Given the description of an element on the screen output the (x, y) to click on. 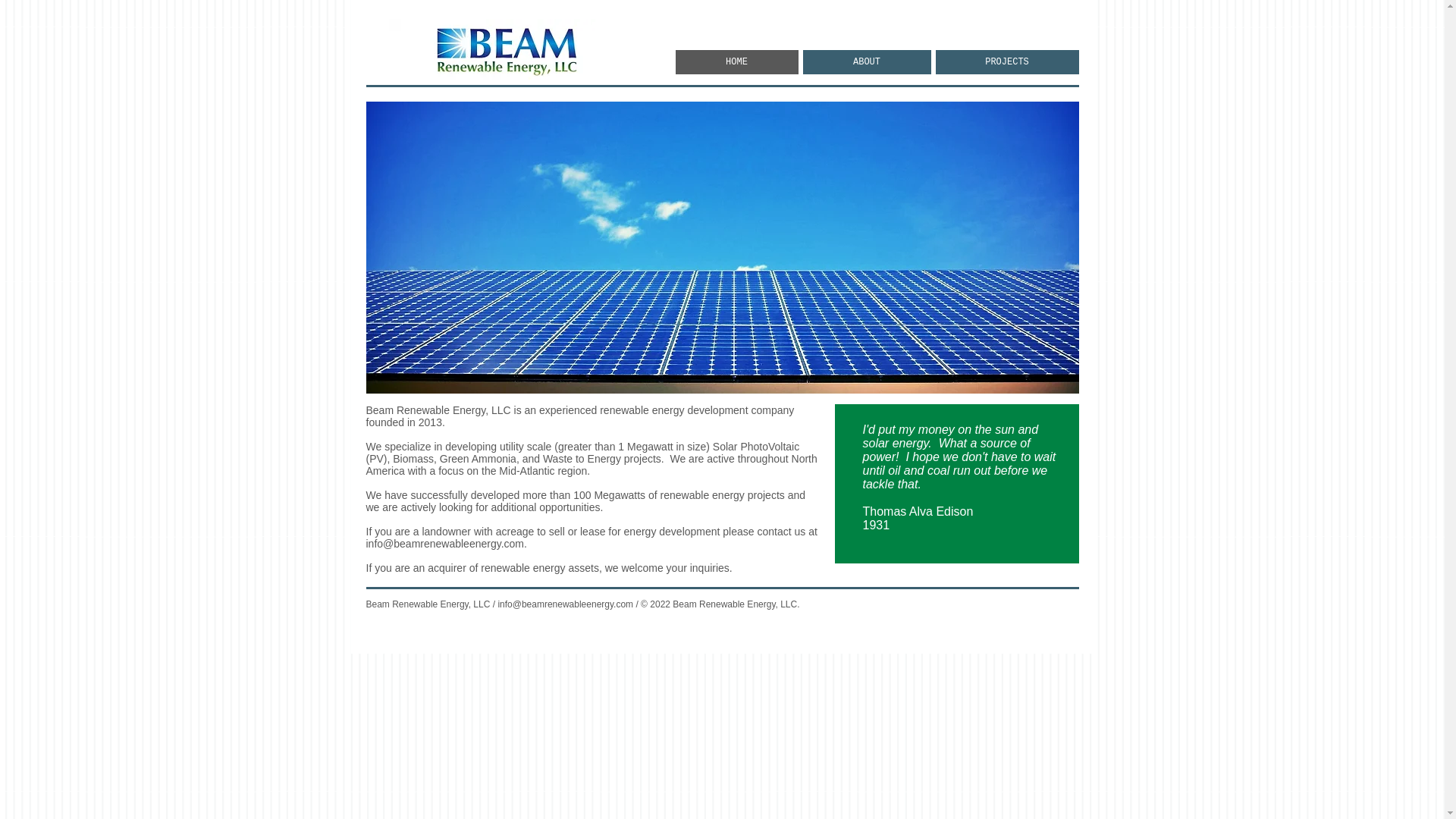
ABOUT (866, 61)
PROJECTS (1007, 61)
HOME (736, 61)
